Given the description of an element on the screen output the (x, y) to click on. 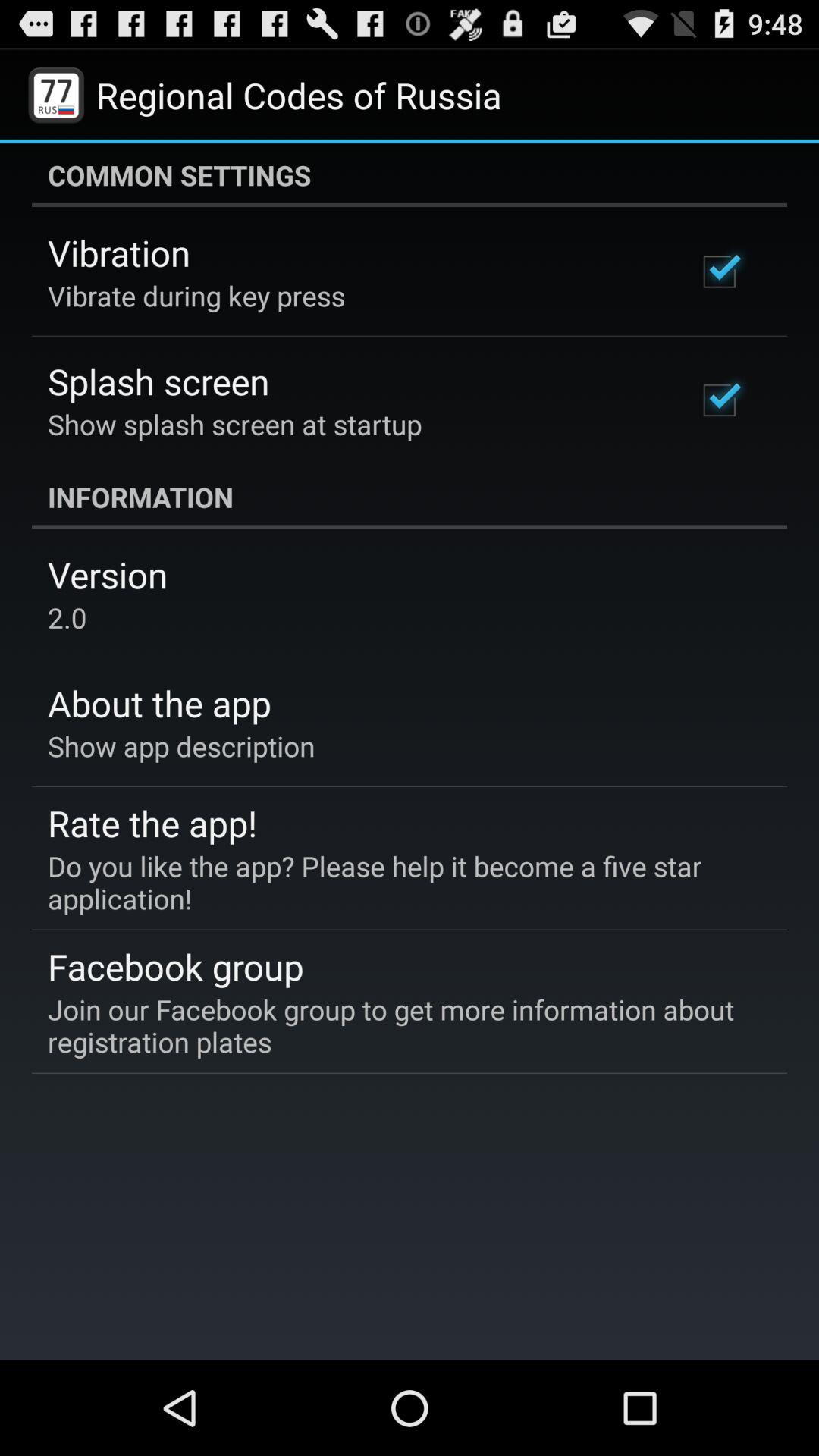
choose the vibration app (118, 252)
